Given the description of an element on the screen output the (x, y) to click on. 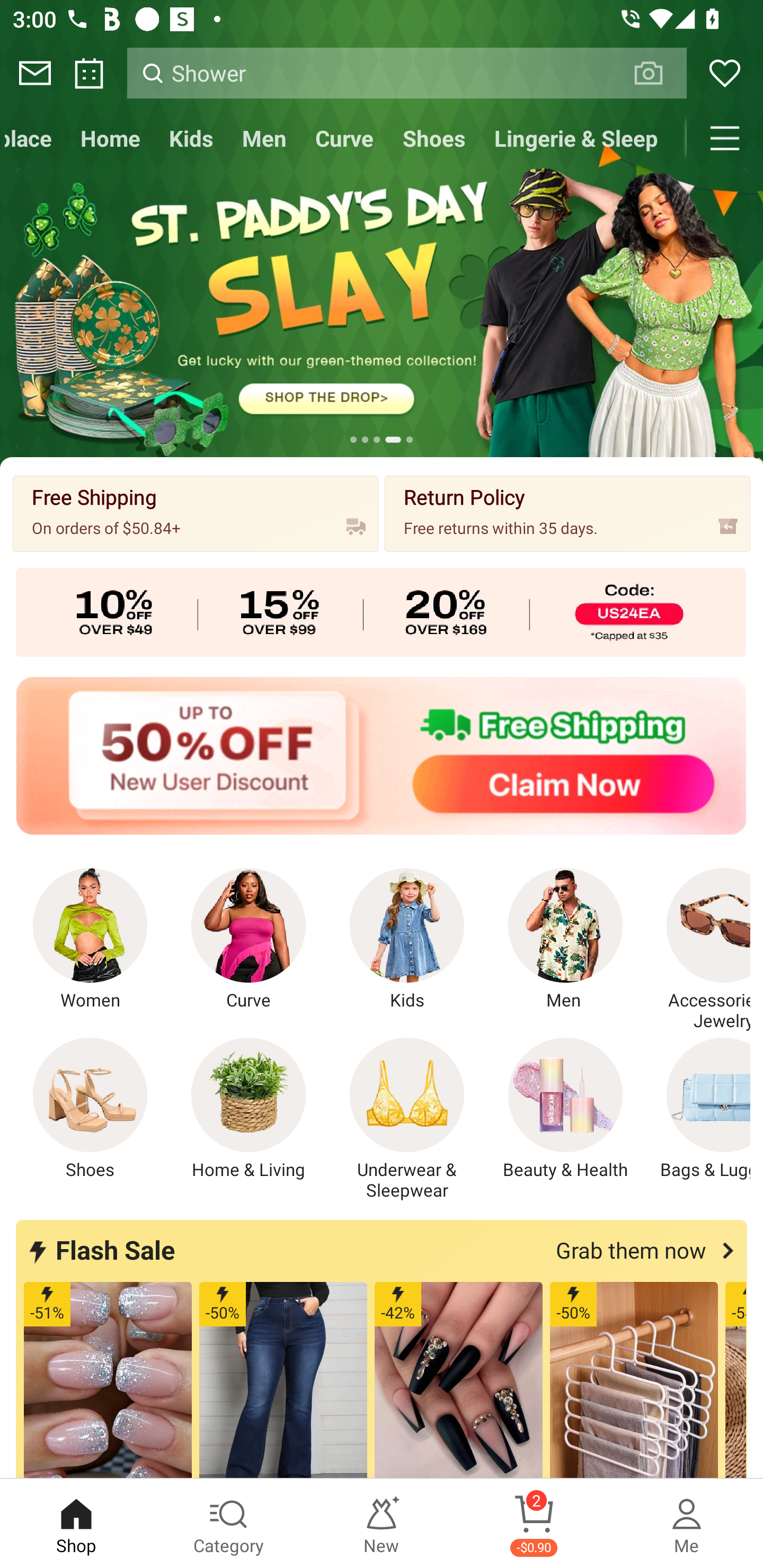
Wishlist (724, 72)
VISUAL SEARCH (657, 72)
Marketplace (33, 137)
Home (110, 137)
Kids (191, 137)
Men (264, 137)
Curve (344, 137)
Shoes (433, 137)
Lingerie & Sleep (575, 137)
Free Shipping On orders of $50.84+ (195, 513)
Return Policy Free returns within 35 days. (567, 513)
Women (89, 939)
Curve (248, 939)
Kids (406, 939)
Men  (565, 939)
Accessories & Jewelry (698, 949)
Shoes (89, 1109)
Home & Living (248, 1109)
Underwear & Sleepwear (406, 1119)
Beauty & Health (565, 1109)
Bags & Luggage (698, 1109)
Category (228, 1523)
New (381, 1523)
Cart 2 -$0.90 (533, 1523)
Me (686, 1523)
